Given the description of an element on the screen output the (x, y) to click on. 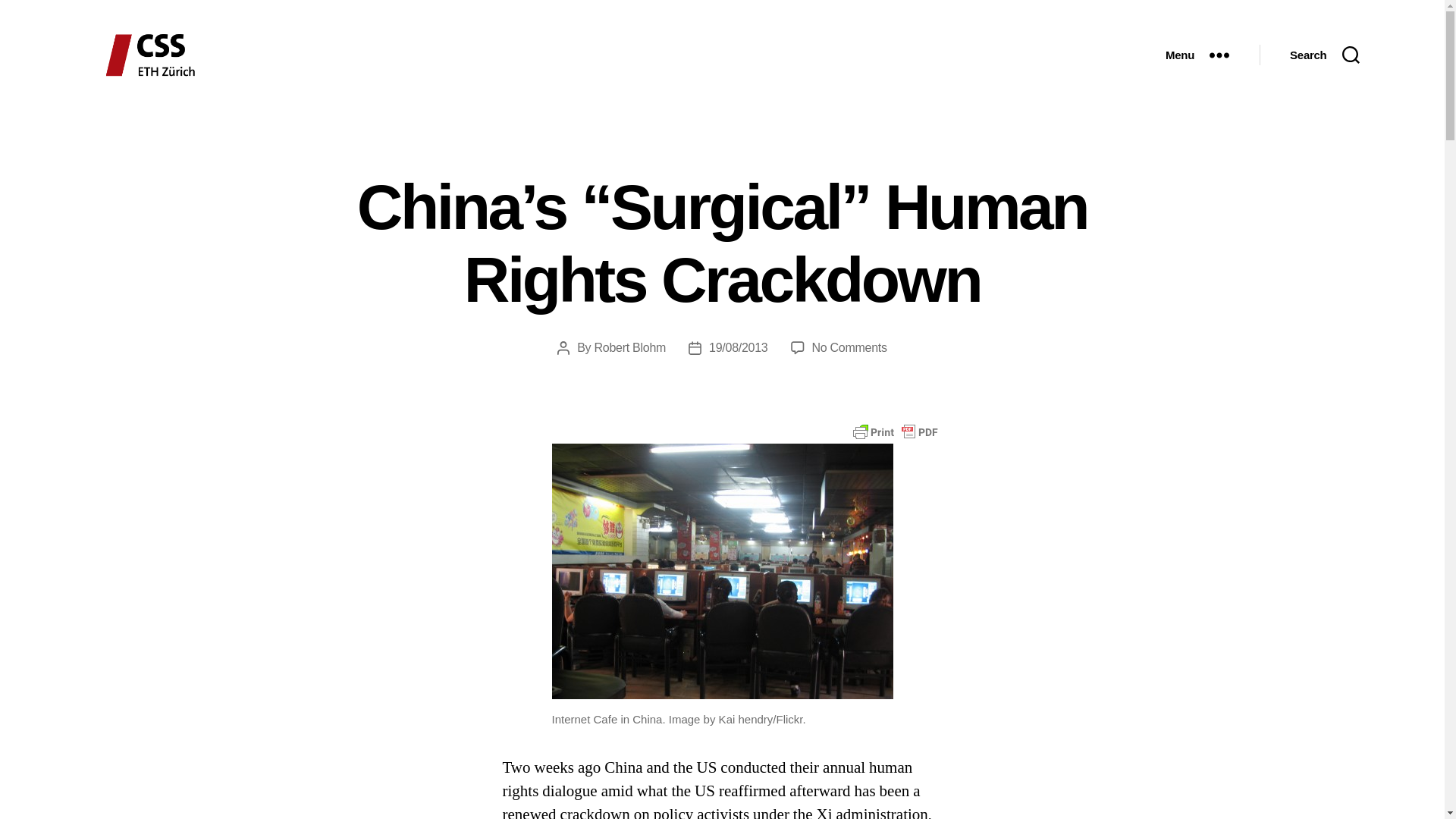
Robert Blohm (630, 347)
Menu (1197, 55)
Search (1324, 55)
